Given the description of an element on the screen output the (x, y) to click on. 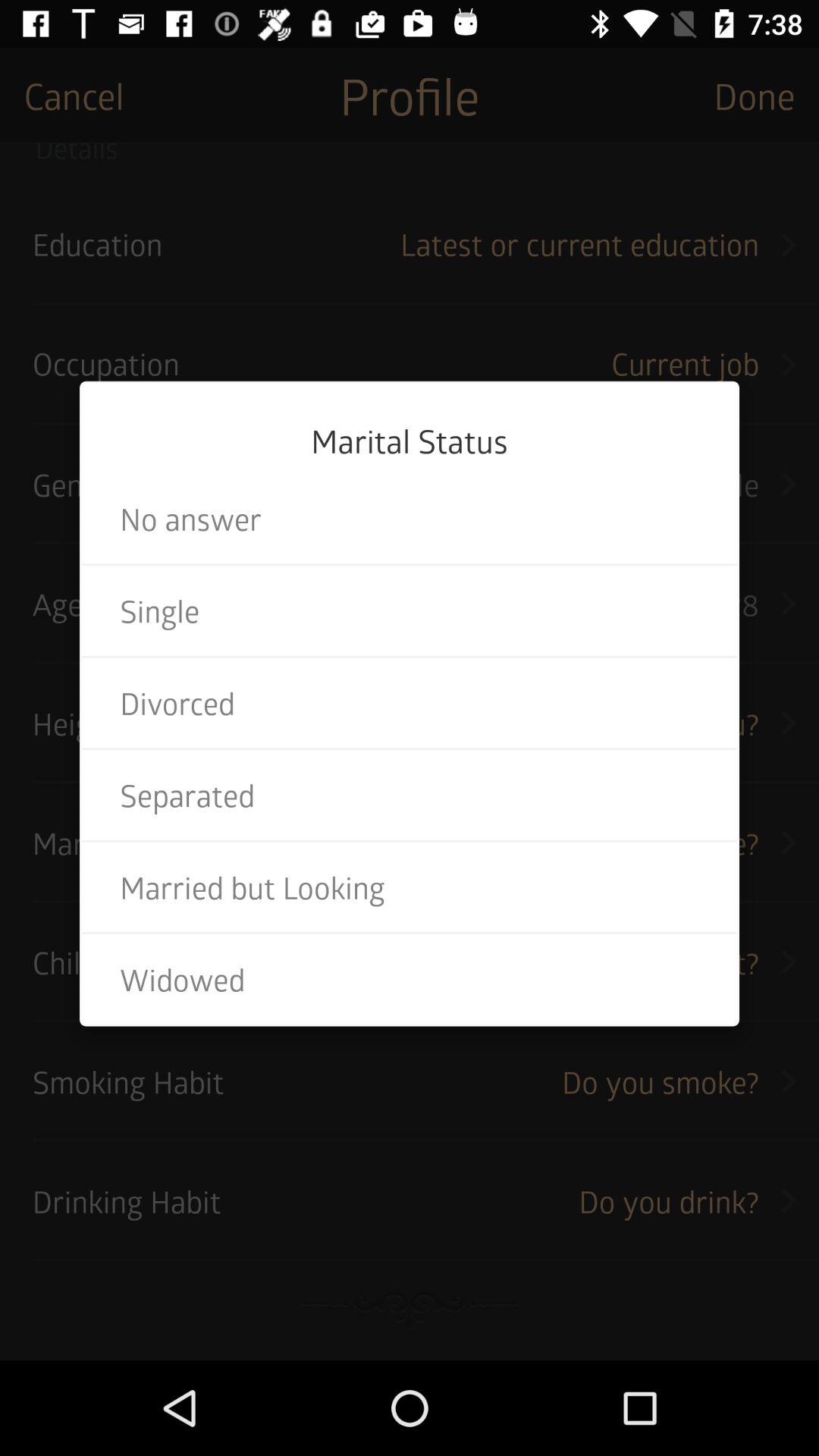
open icon below the no answer icon (409, 610)
